Given the description of an element on the screen output the (x, y) to click on. 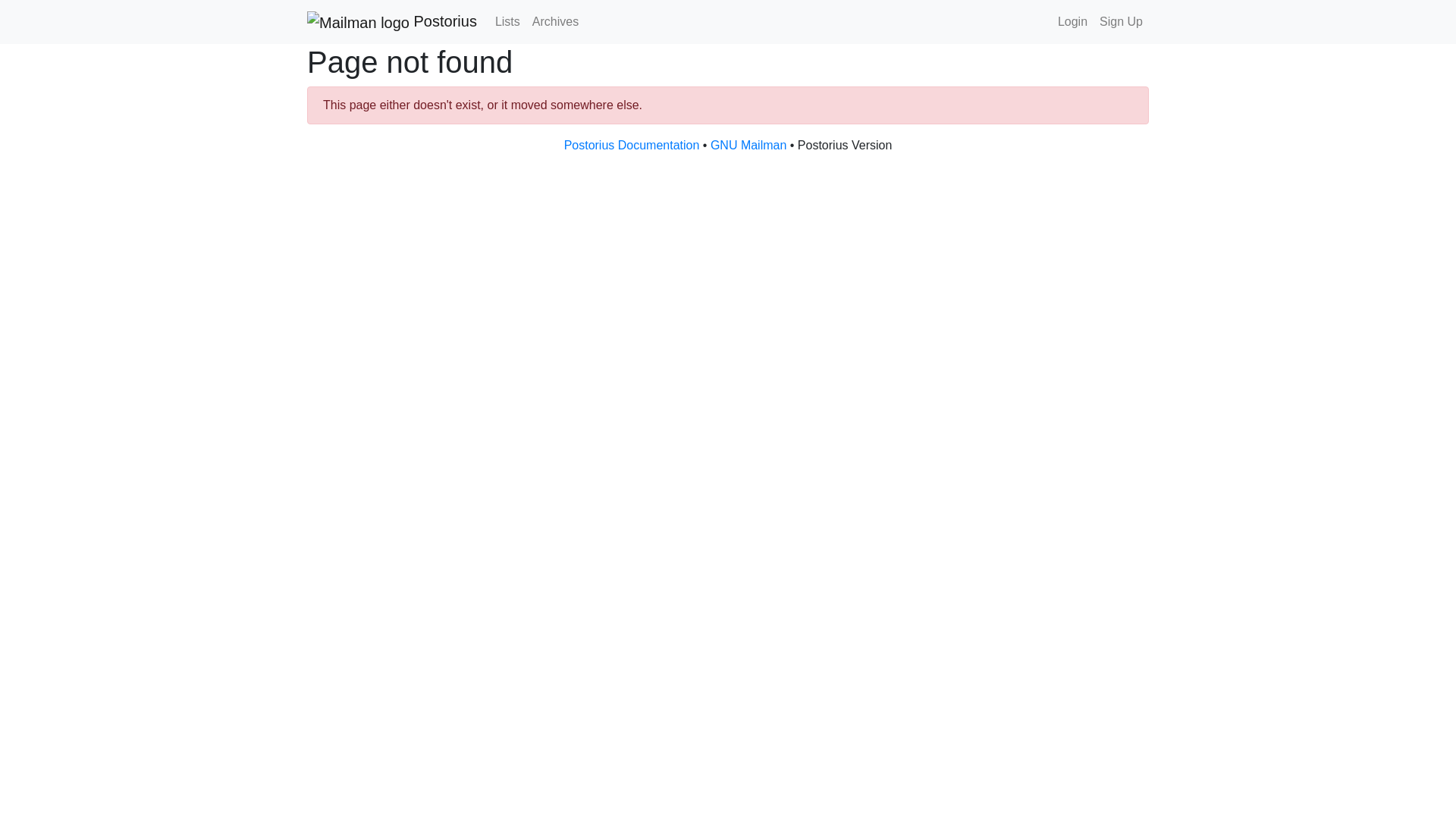
Login (1072, 21)
GNU Mailman (748, 144)
Lists (507, 21)
Archives (555, 21)
Postorius (392, 21)
Sign Up (1120, 21)
Postorius Documentation (632, 144)
